Given the description of an element on the screen output the (x, y) to click on. 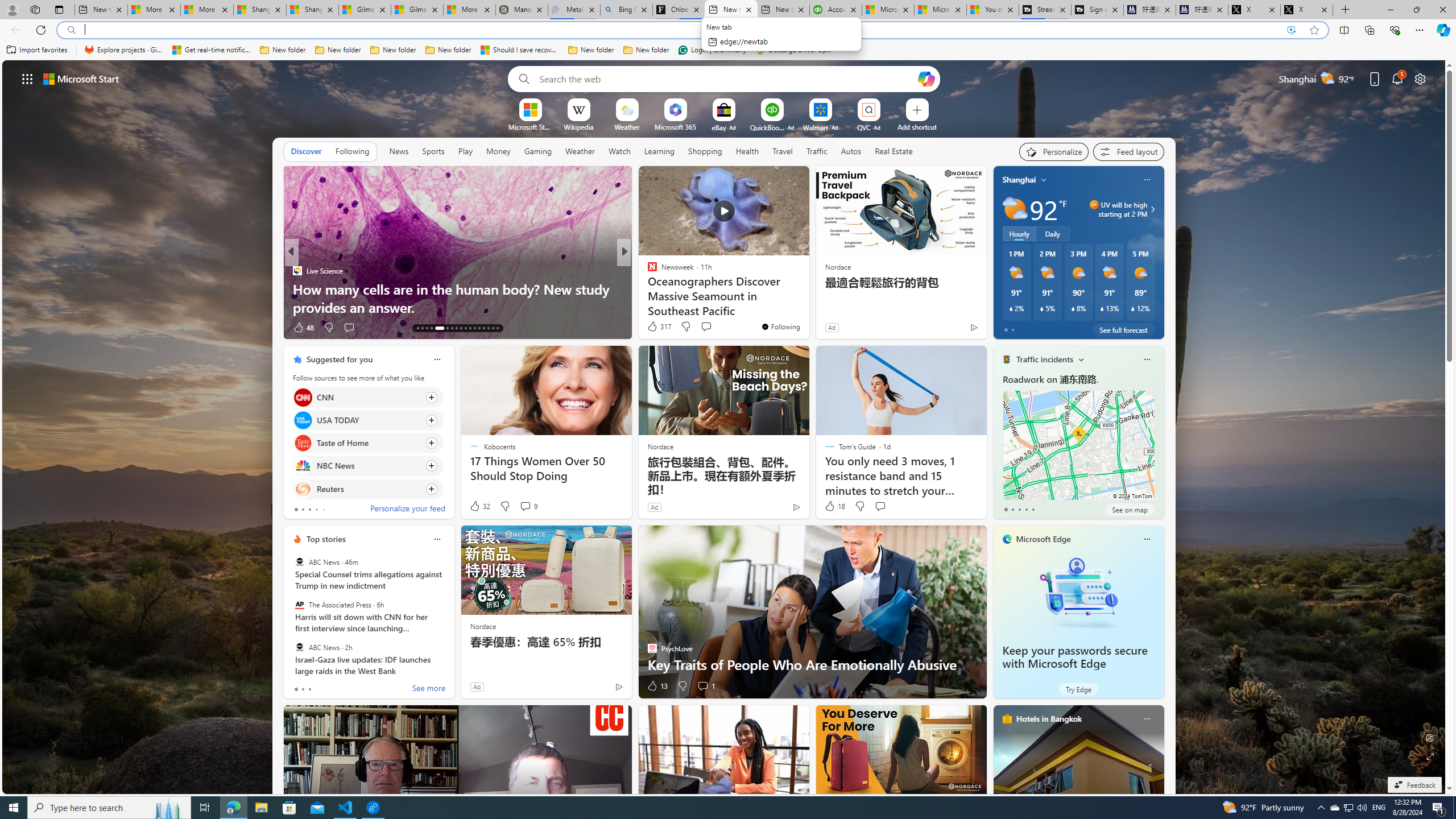
Hourly (1018, 233)
AutomationID: tab-24 (474, 328)
Climate Crisis 247 (647, 270)
More options (1146, 718)
AutomationID: tab-16 (431, 328)
Start the conversation (879, 505)
Manatee Mortality Statistics | FWC (521, 9)
